Given the description of an element on the screen output the (x, y) to click on. 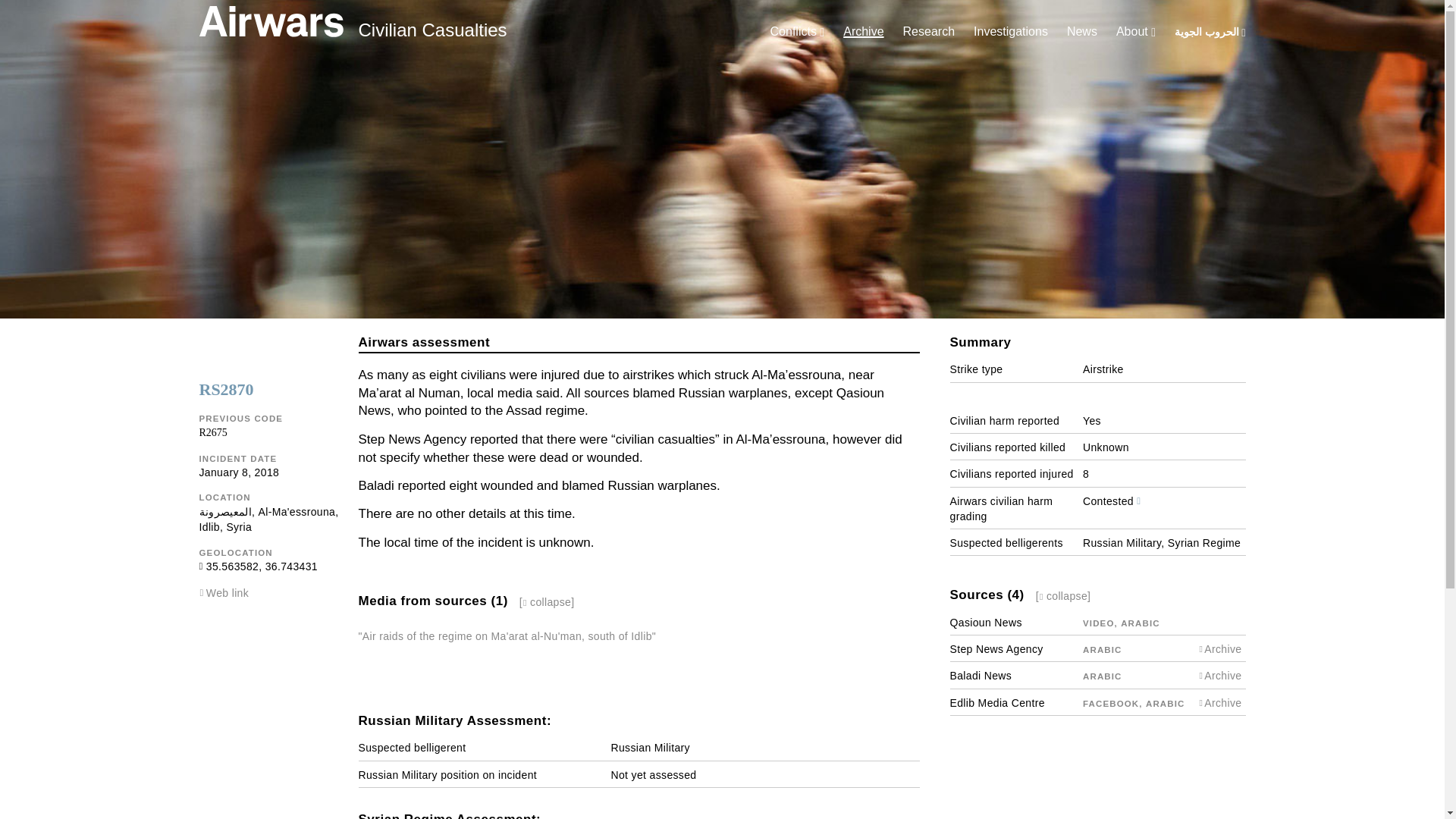
Investigations (1011, 31)
Qasioun News (985, 622)
Research (928, 31)
Web link (227, 592)
Archive (863, 31)
News (1082, 31)
